Given the description of an element on the screen output the (x, y) to click on. 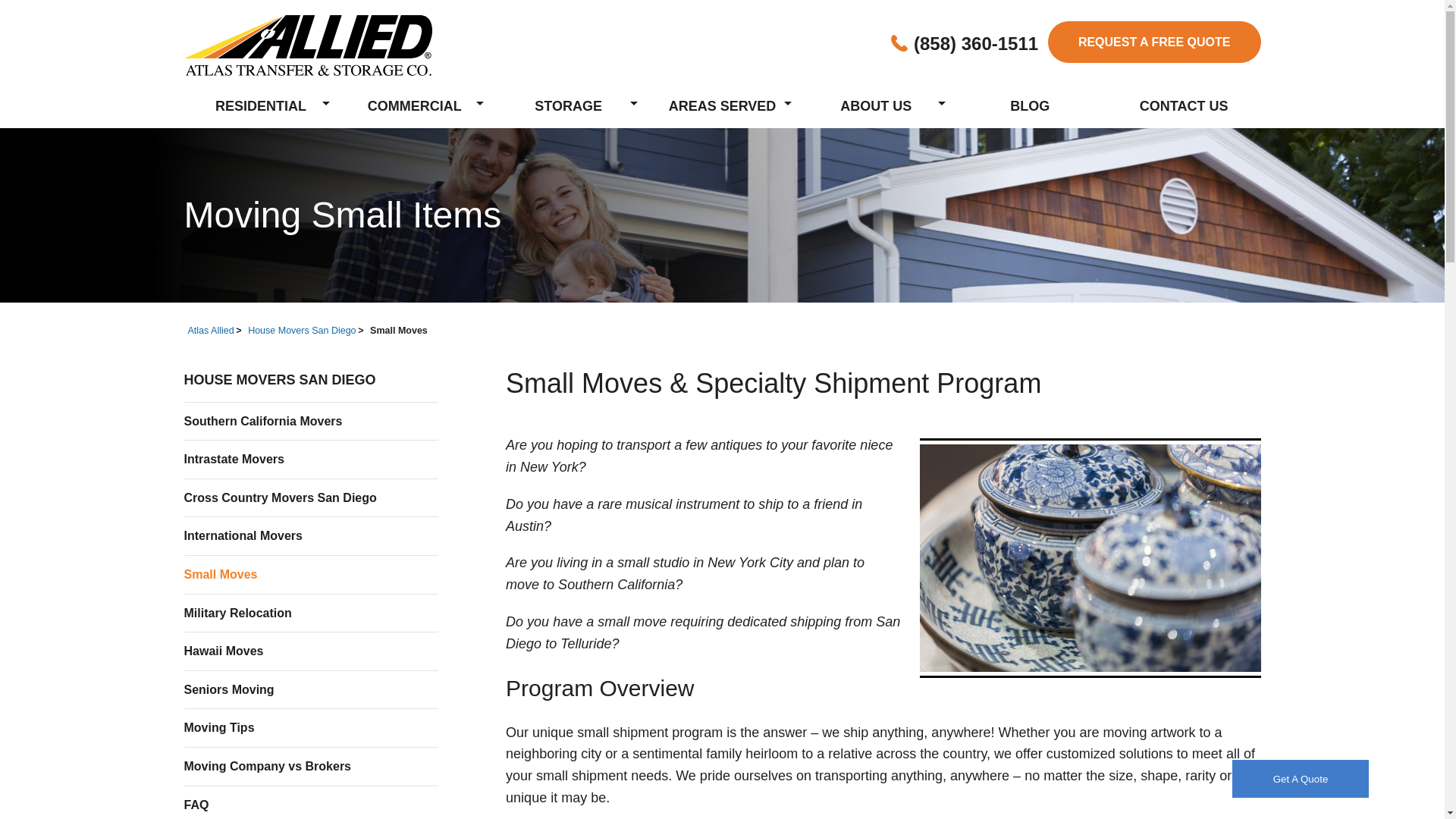
ABOUT US (876, 102)
Go to Atlas Allied. (210, 330)
COMMERCIAL (414, 102)
Allied (306, 45)
REQUEST A FREE QUOTE (1154, 42)
RESIDENTIAL (260, 102)
STORAGE (568, 102)
Go to House Movers San Diego. (301, 330)
AREAS SERVED (722, 102)
